Given the description of an element on the screen output the (x, y) to click on. 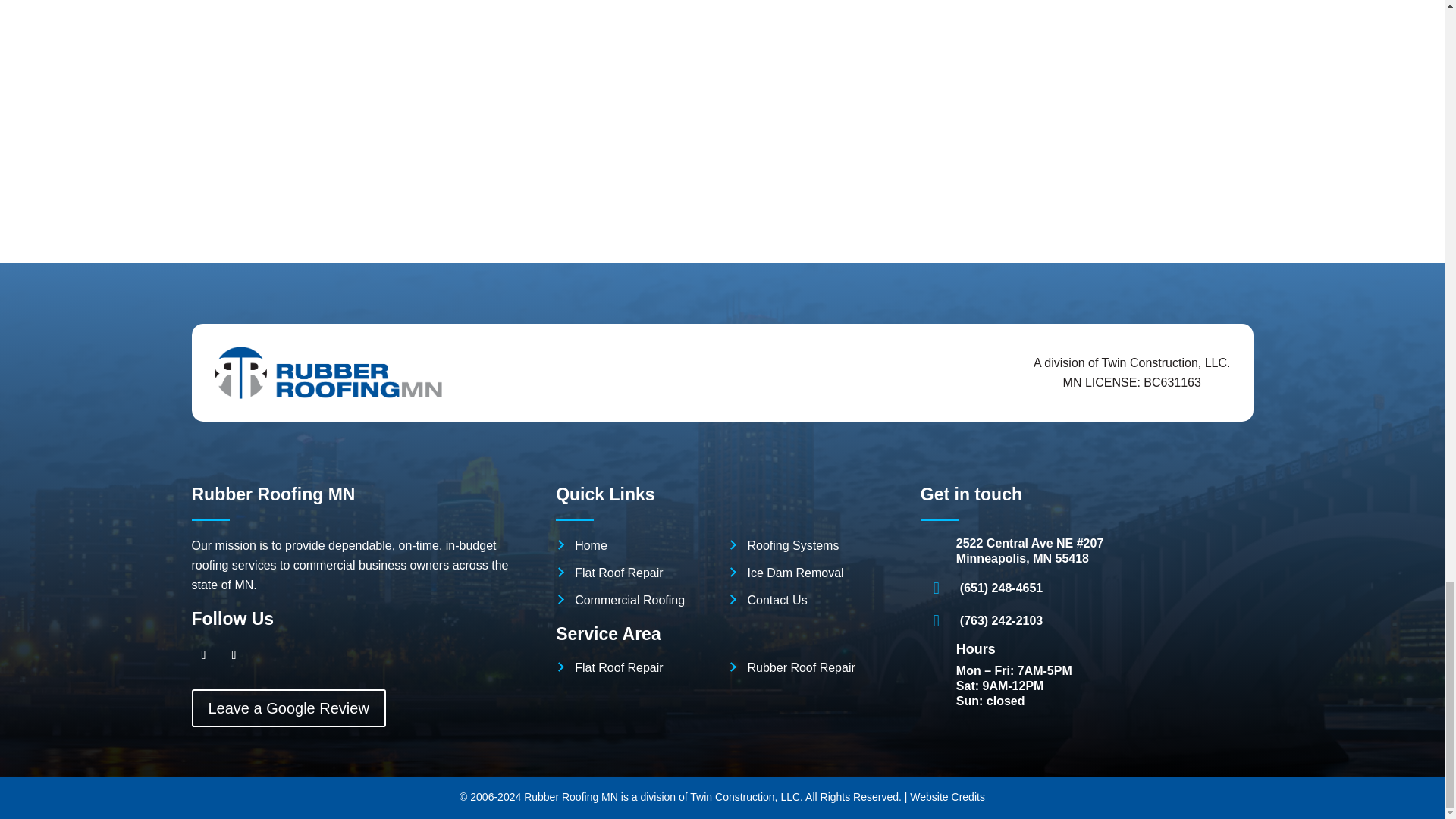
Follow on Facebook (202, 654)
Follow on Google (233, 654)
